Given the description of an element on the screen output the (x, y) to click on. 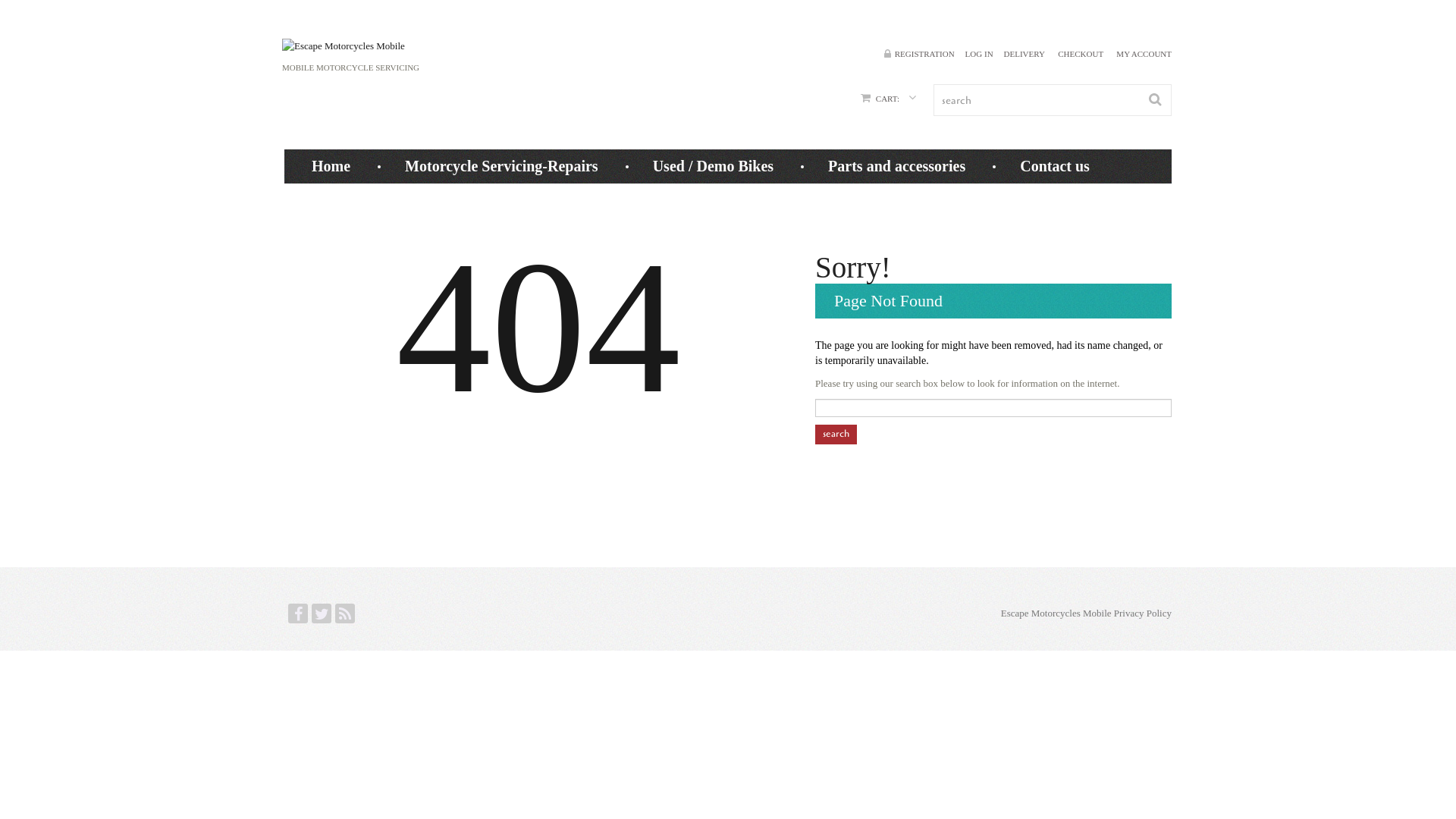
Go Element type: text (1154, 99)
Mobile Motorcycle Servicing Element type: hover (343, 45)
Parts and accessories Element type: text (896, 165)
REGISTRATION Element type: text (924, 53)
Used / Demo Bikes Element type: text (712, 165)
MY ACCOUNT Element type: text (1143, 53)
Home Element type: text (330, 165)
Motorcycle Servicing-Repairs Element type: text (501, 165)
Privacy Policy Element type: text (1142, 612)
CHECKOUT Element type: text (1080, 53)
DELIVERY Element type: text (1024, 53)
search Element type: text (835, 434)
LOG IN Element type: text (979, 53)
Escape Motorcycles Mobile Element type: text (1056, 612)
Contact us Element type: text (1054, 165)
